Given the description of an element on the screen output the (x, y) to click on. 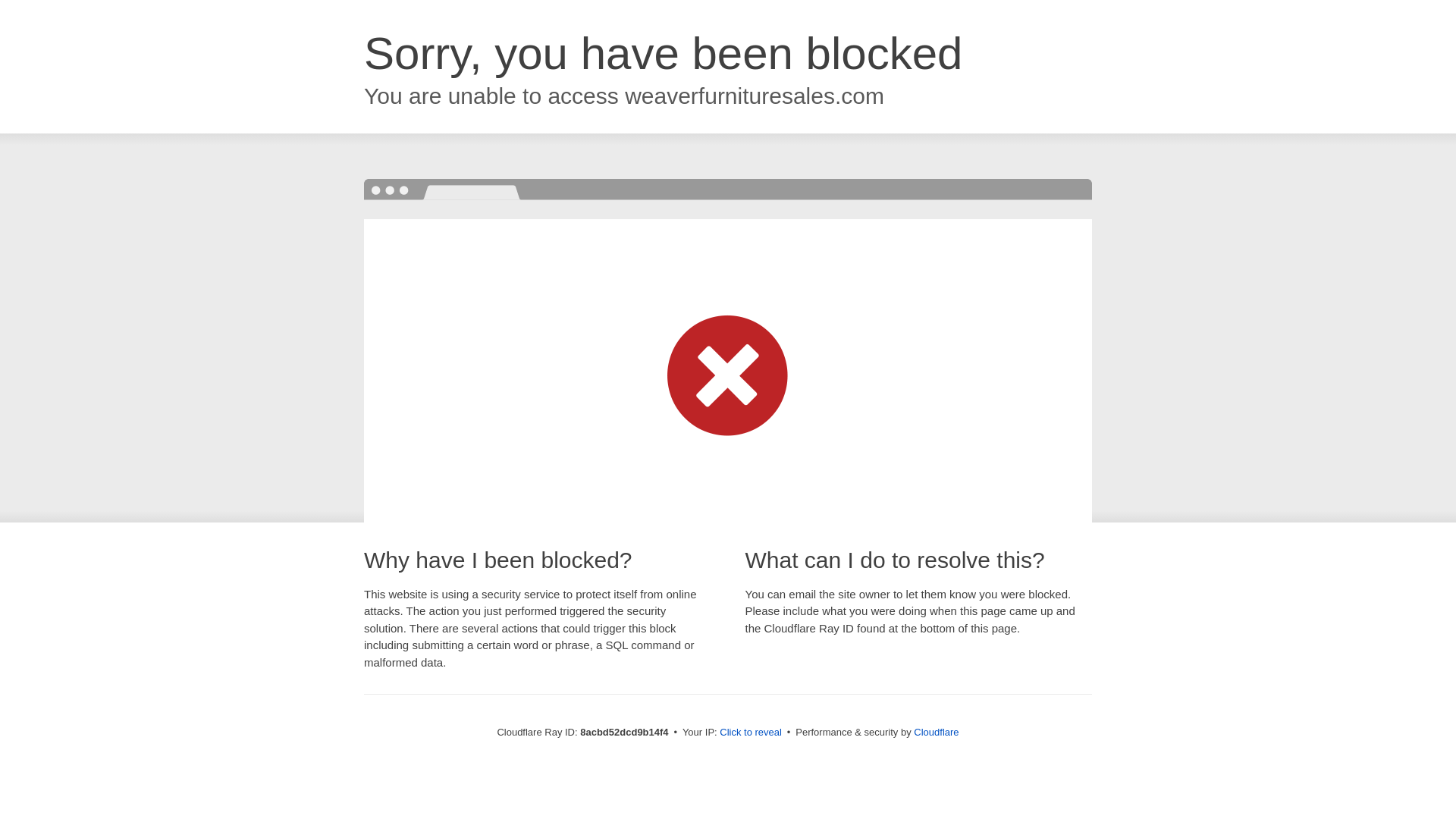
Click to reveal (750, 732)
Cloudflare (936, 731)
